Given the description of an element on the screen output the (x, y) to click on. 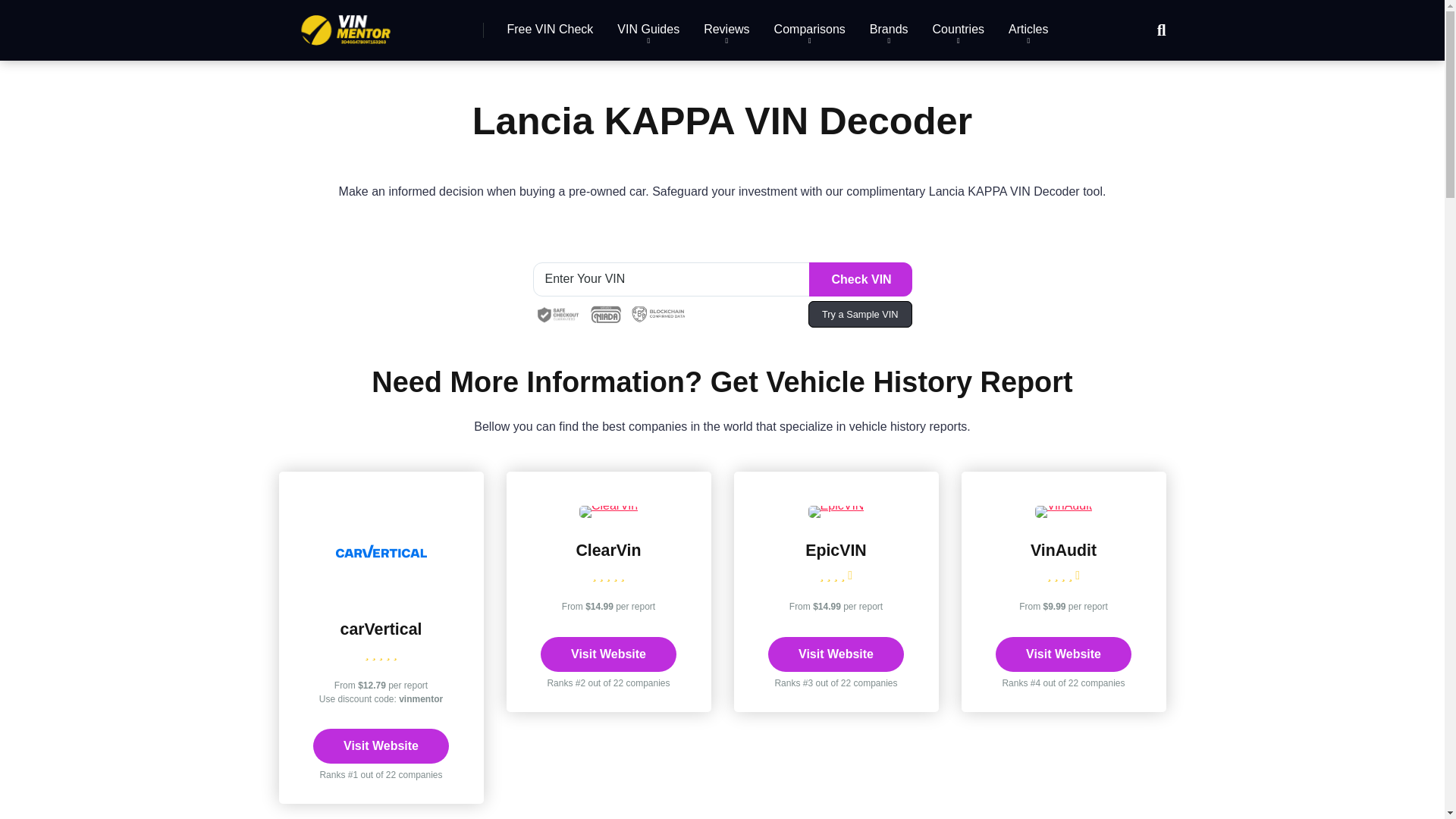
Countries (957, 30)
Check VIN (859, 279)
EpicVIN (835, 550)
Brands (888, 30)
VIN Mentor (346, 24)
Free VIN Check (550, 30)
carVertical (381, 628)
VIN Guides (648, 30)
Visit Website (1063, 654)
ClearVin (607, 550)
